Given the description of an element on the screen output the (x, y) to click on. 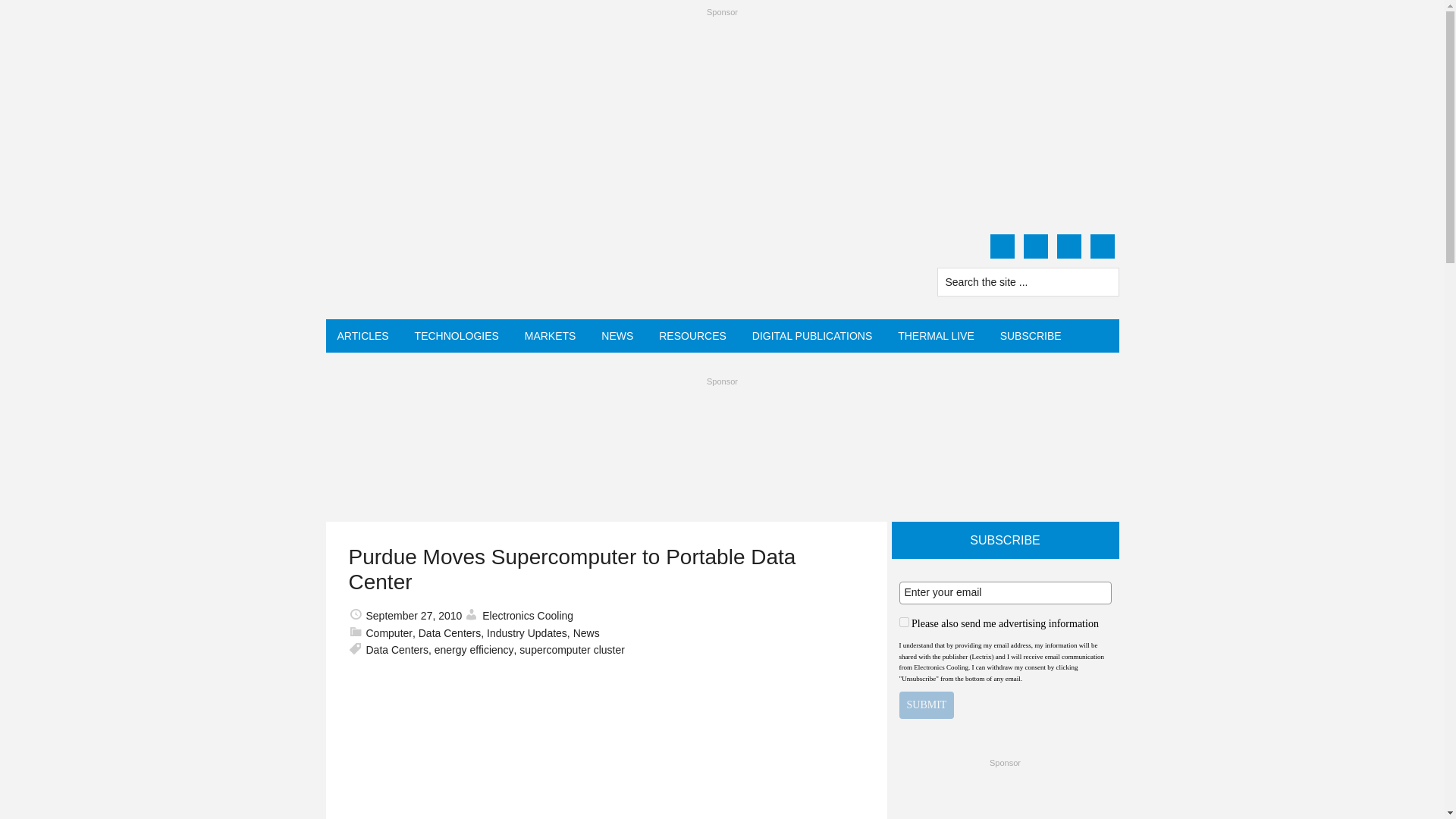
3rd party ad content (1005, 796)
MARKETS (550, 335)
Electronics Cooling (470, 268)
TECHNOLOGIES (457, 335)
Please also send me advertising information (903, 622)
3rd party ad content (721, 427)
